Given the description of an element on the screen output the (x, y) to click on. 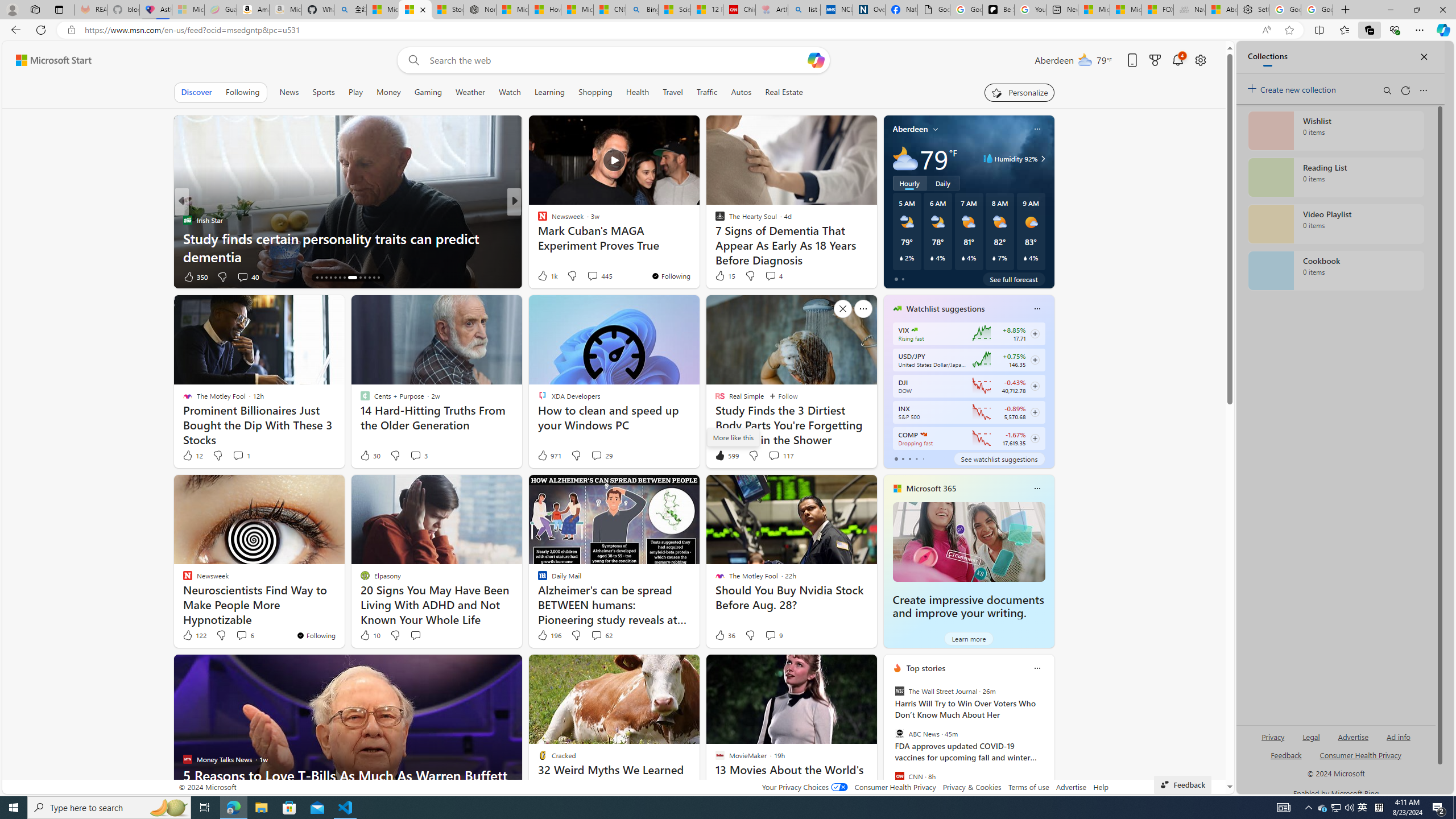
View comments 445 Comment (599, 275)
Create impressive documents and improve your writing. (967, 606)
1k Like (546, 275)
30 Like (368, 455)
